Given the description of an element on the screen output the (x, y) to click on. 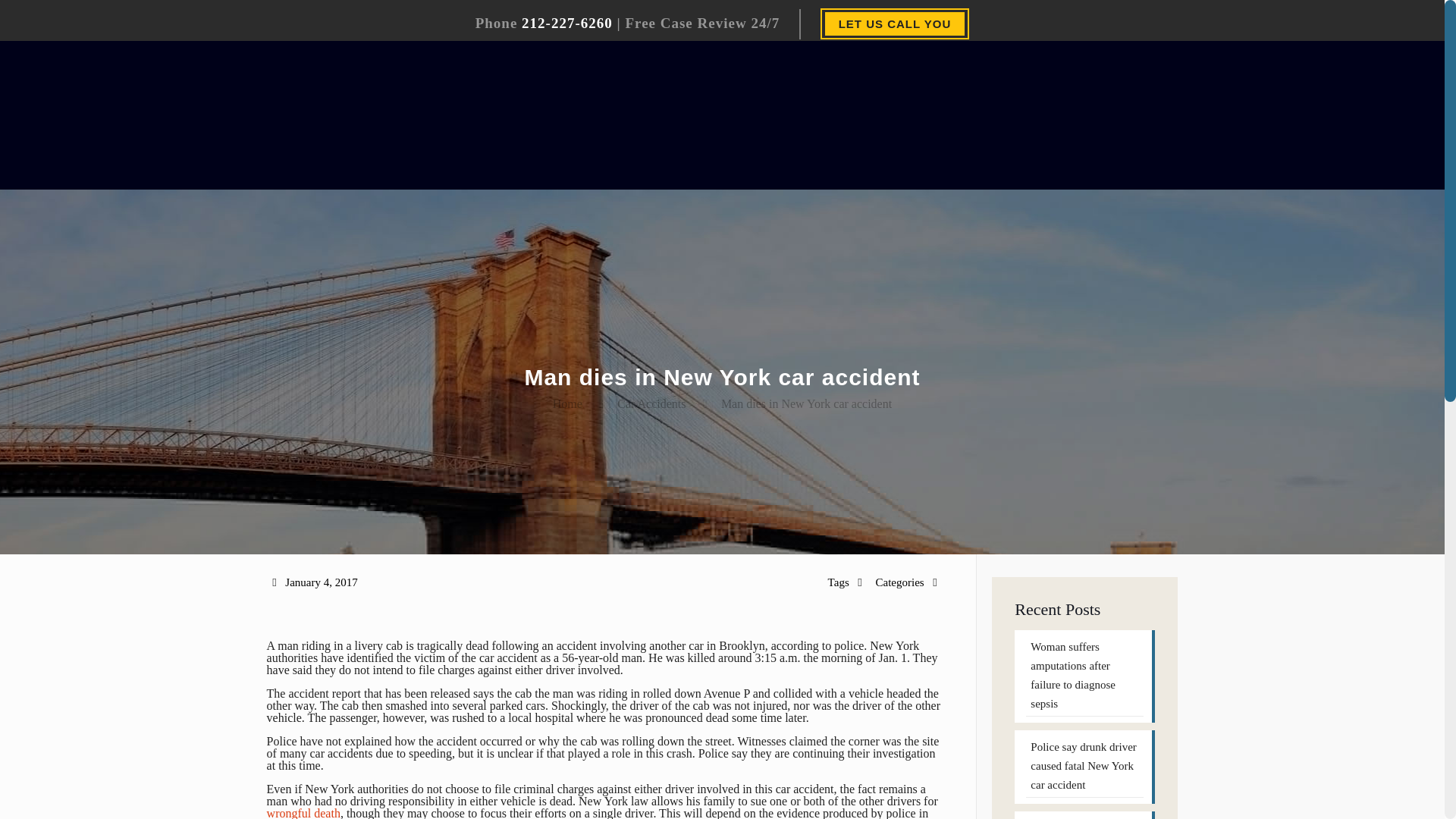
212-227-6260 (566, 23)
Home (567, 403)
LET US CALL YOU (895, 24)
Man dies in New York car accident (805, 403)
Car Accidents (651, 403)
